Given the description of an element on the screen output the (x, y) to click on. 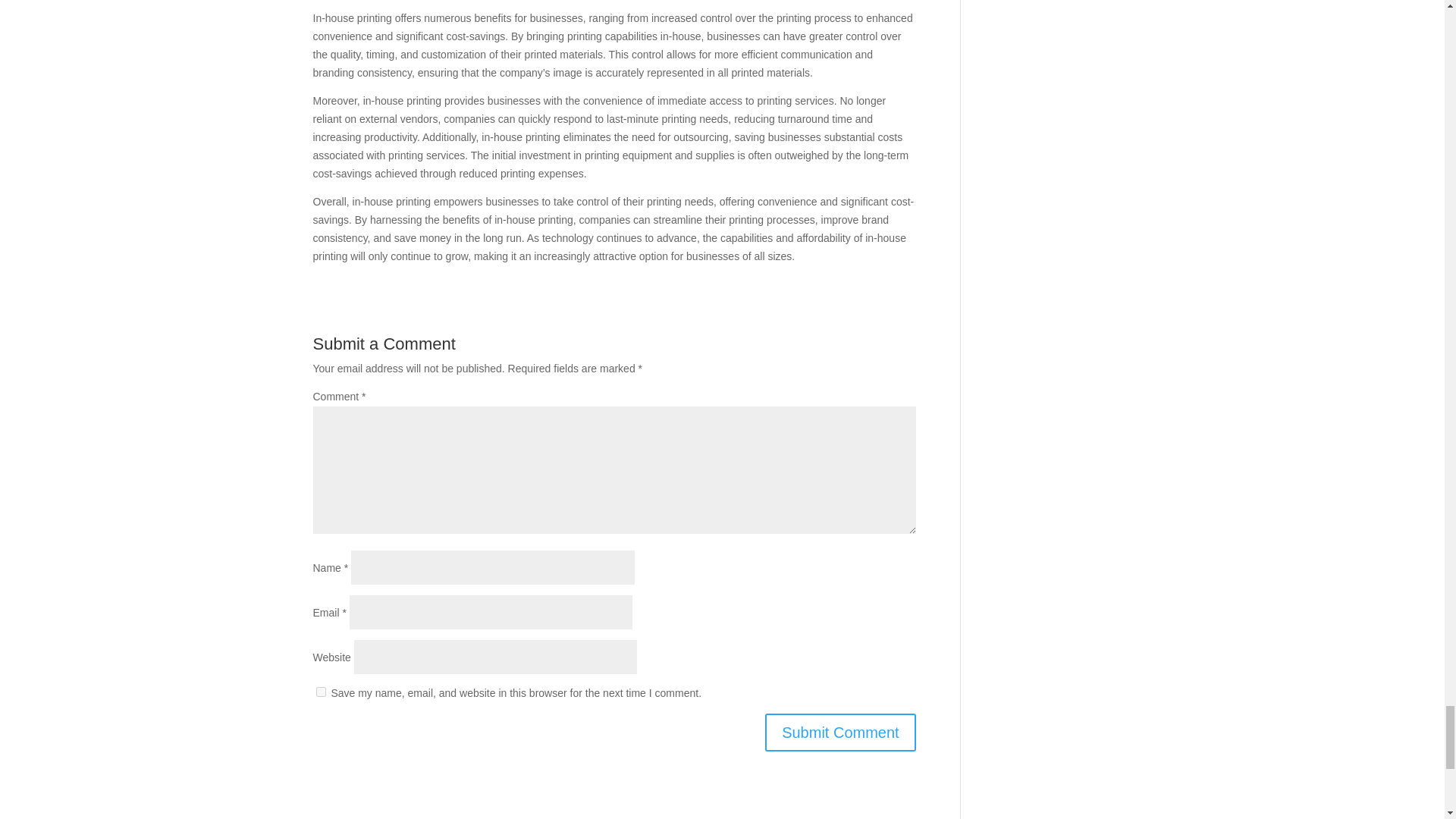
Submit Comment (840, 732)
Submit Comment (840, 732)
yes (319, 691)
